Given the description of an element on the screen output the (x, y) to click on. 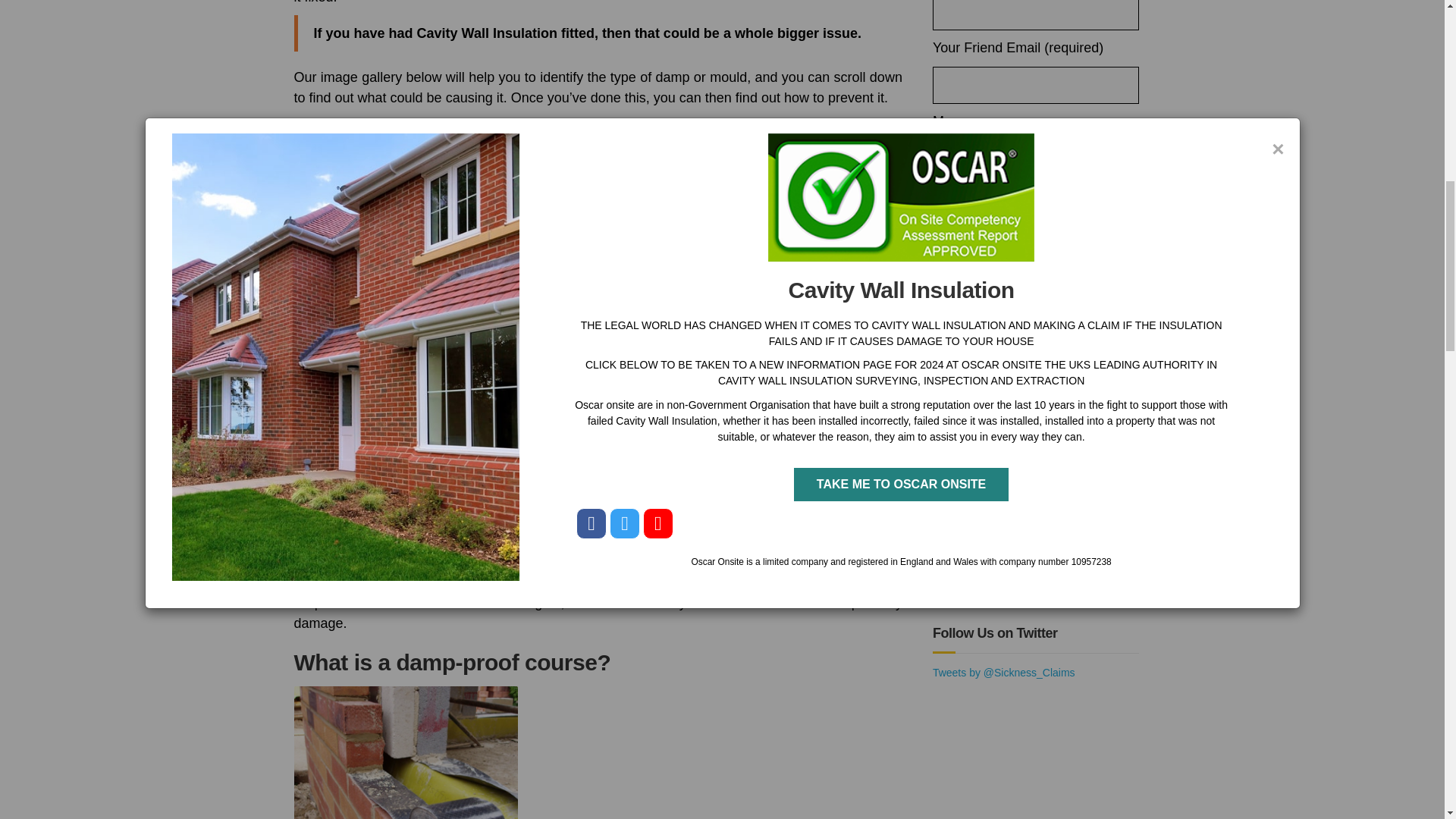
Send (1093, 386)
